Given the description of an element on the screen output the (x, y) to click on. 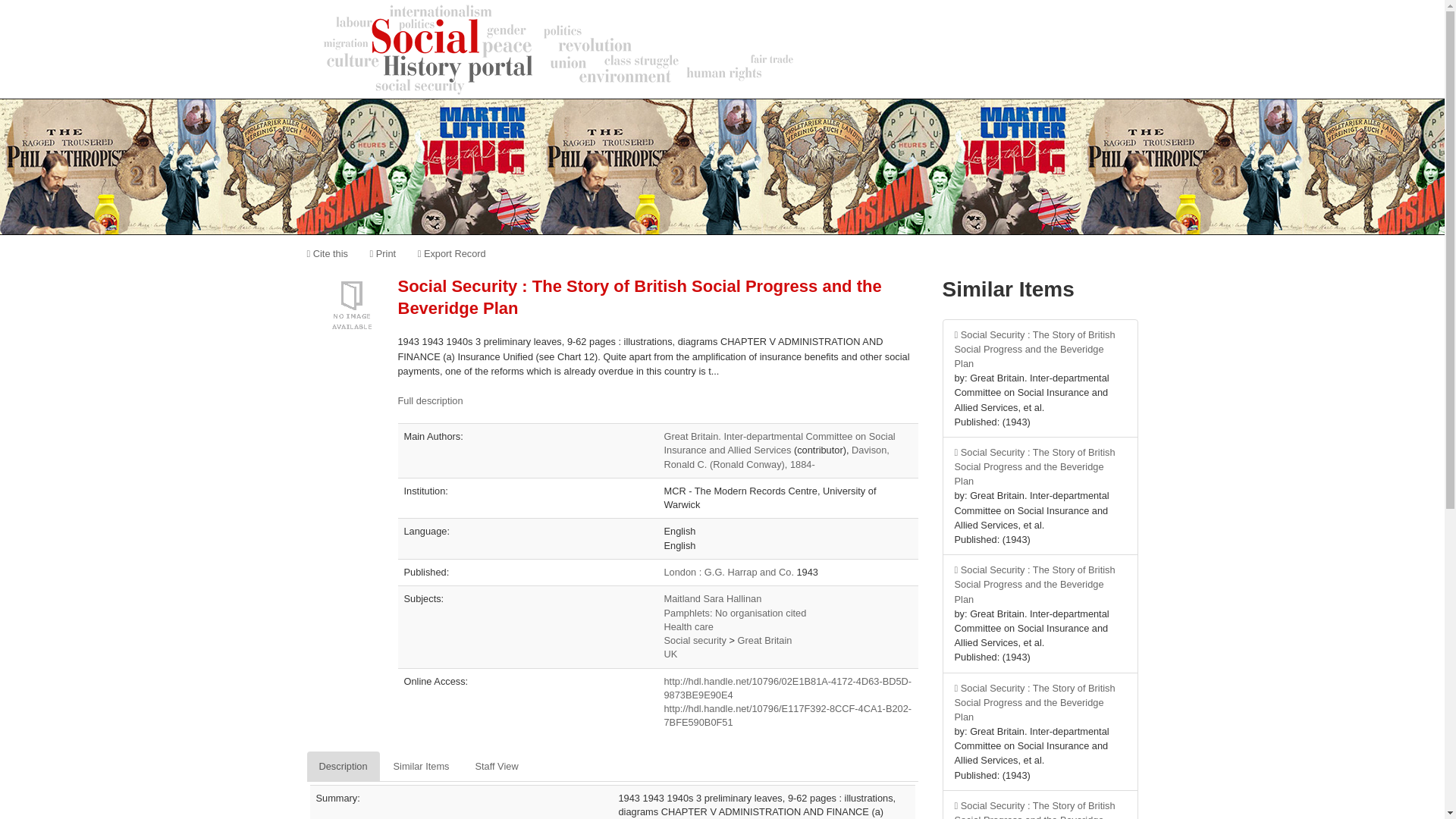
Staff View (496, 766)
Social security Great Britain (765, 640)
Pamphlets: No organisation cited (734, 613)
Maitland Sara Hallinan (712, 598)
Description (341, 766)
Pamphlets: No organisation cited (734, 613)
Social security (694, 640)
Health care (688, 626)
